Given the description of an element on the screen output the (x, y) to click on. 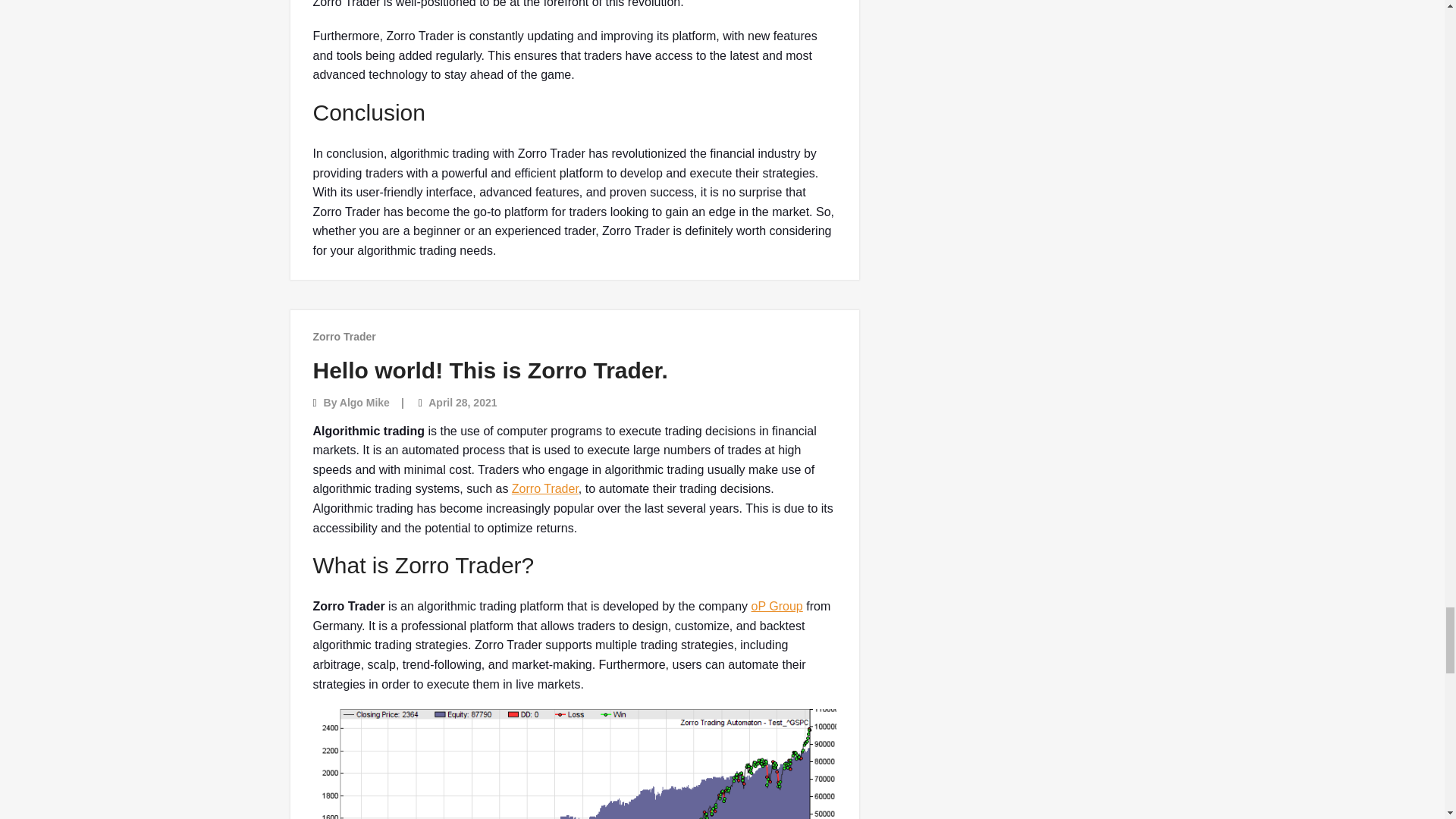
oP Group (777, 605)
Algo Mike (364, 402)
Hello world! This is Zorro Trader. (489, 370)
Zorro Trader (344, 336)
April 28, 2021 (462, 402)
Zorro Trader (545, 488)
